Given the description of an element on the screen output the (x, y) to click on. 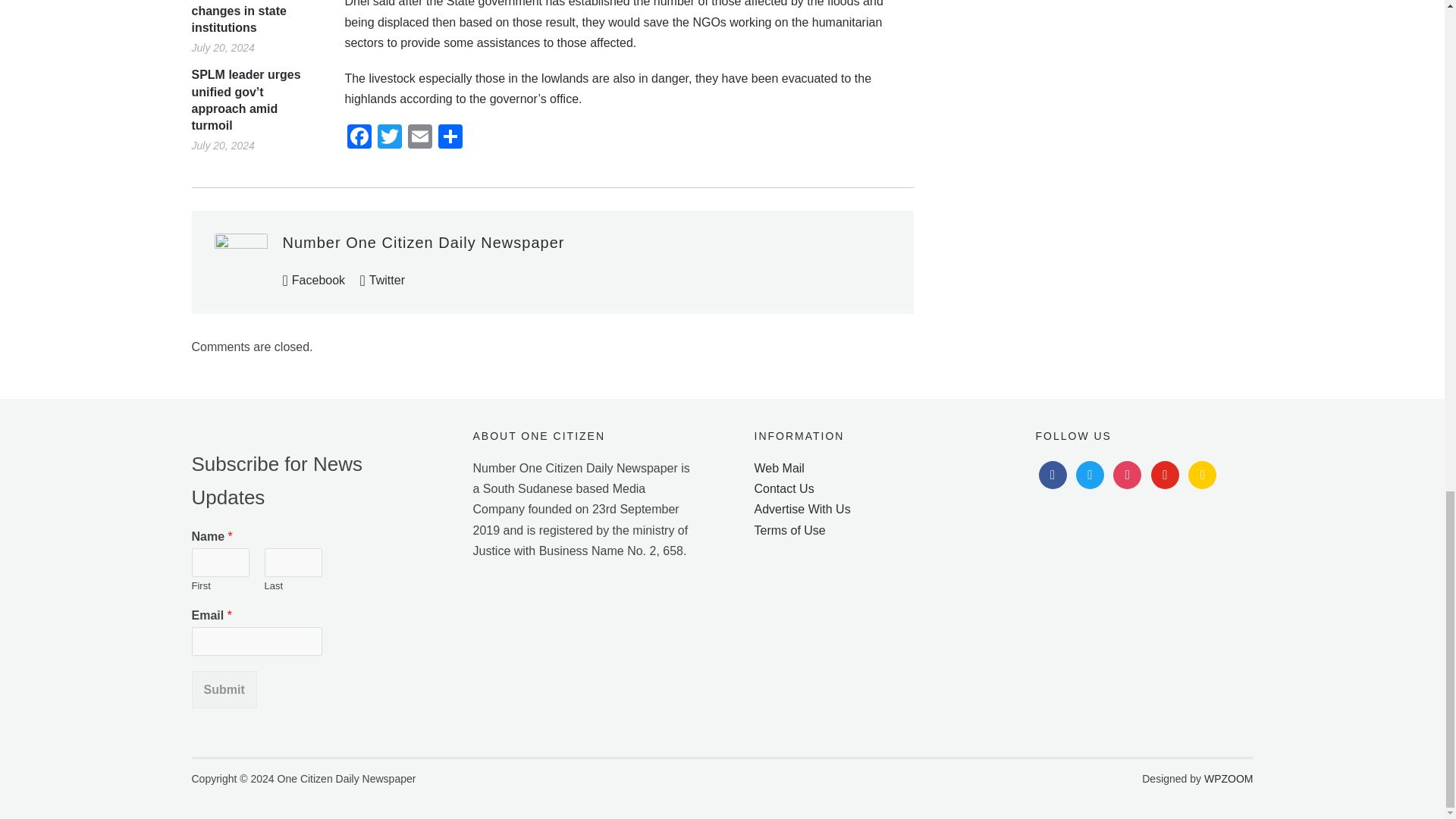
Permalink to Jadalla makes changes in state institutions (255, 18)
